Given the description of an element on the screen output the (x, y) to click on. 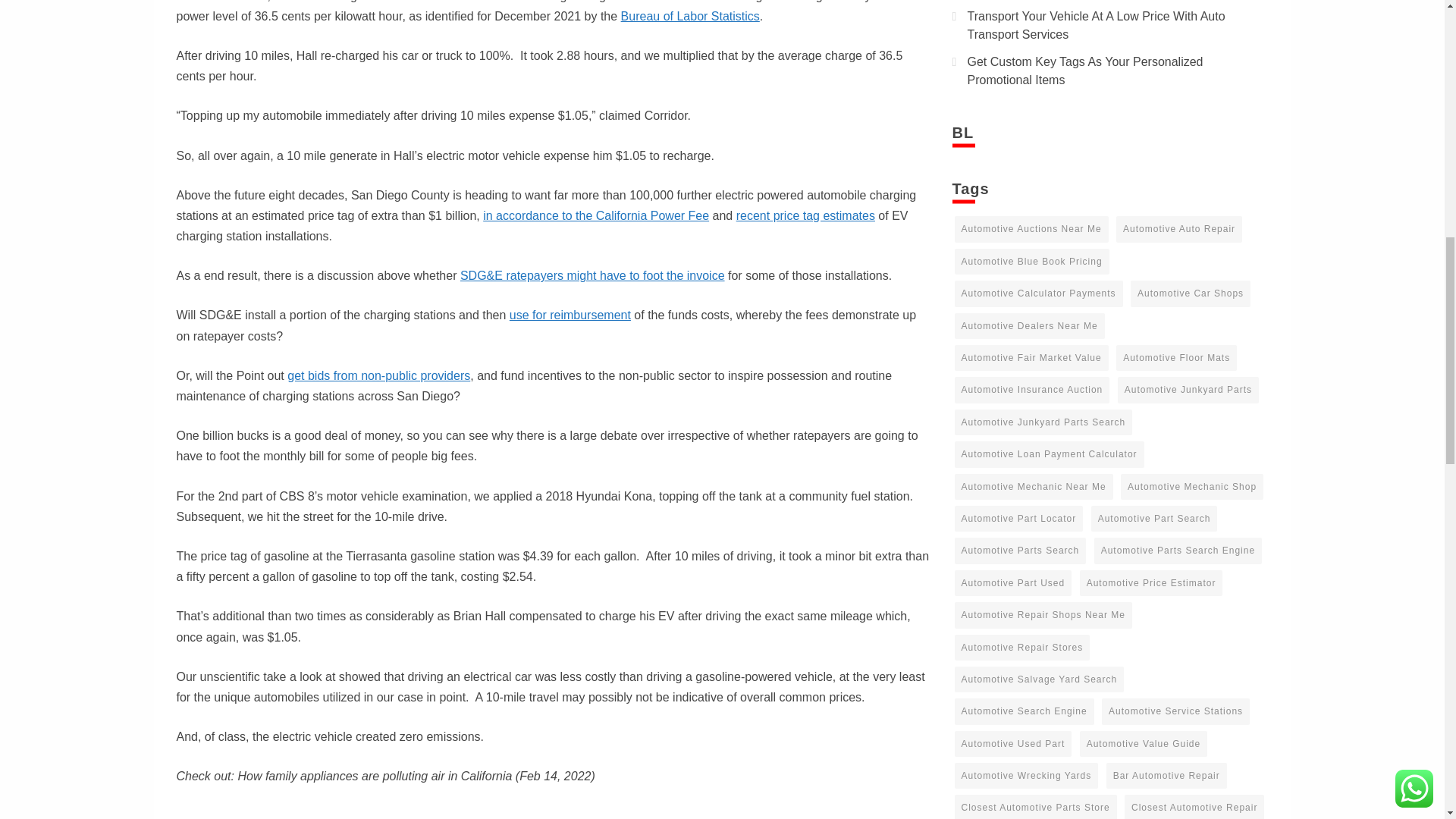
Bureau of Labor Statistics (690, 15)
get bids from non-public providers (378, 375)
recent price tag estimates (805, 215)
in accordance to the California Power Fee (596, 215)
use for reimbursement (569, 314)
How household appliances are polluting air in California (418, 812)
